Given the description of an element on the screen output the (x, y) to click on. 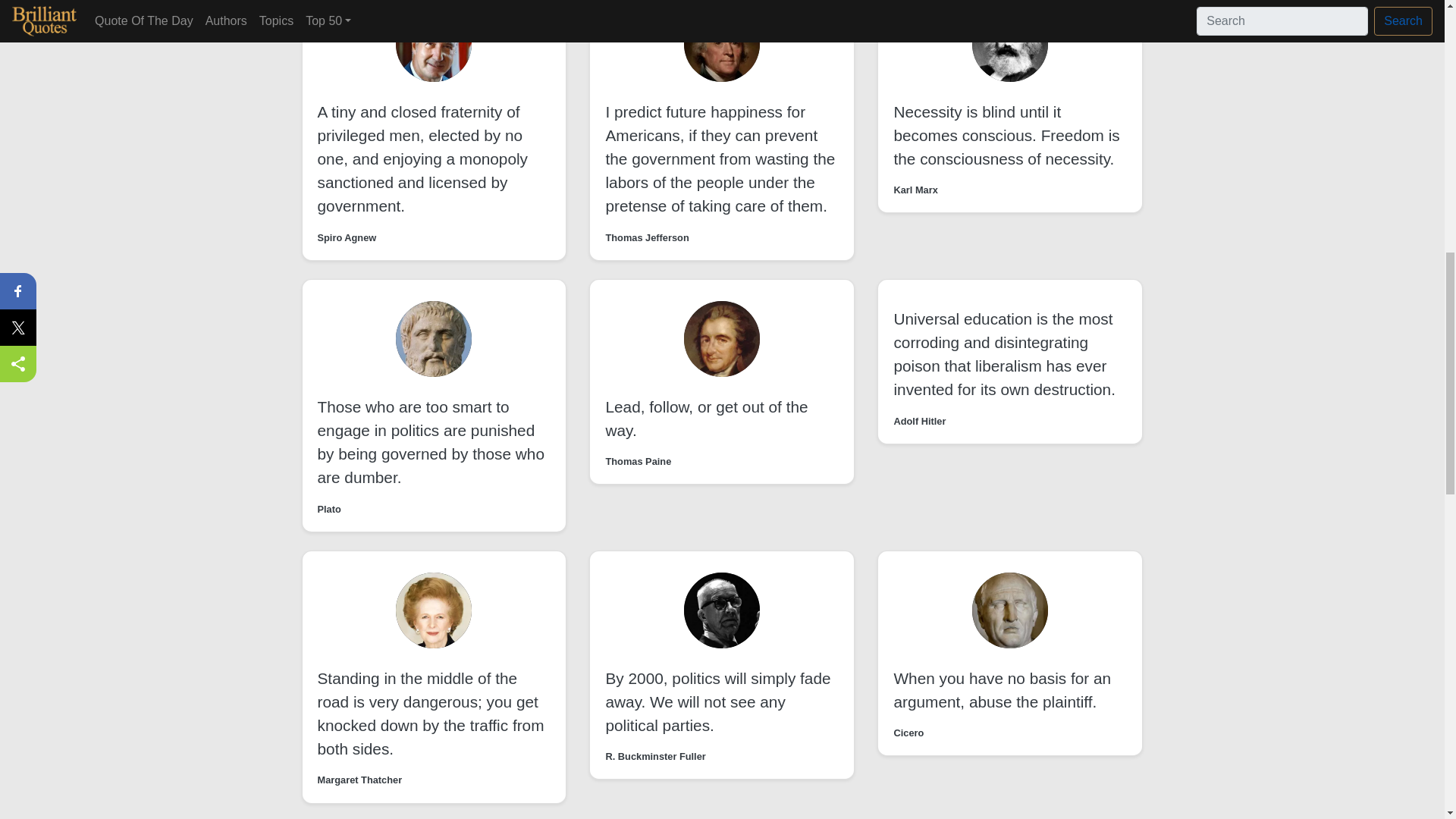
Karl Marx (915, 189)
Lead, follow, or get out of the way. (706, 418)
Plato (328, 509)
Thomas Paine (638, 461)
